Given the description of an element on the screen output the (x, y) to click on. 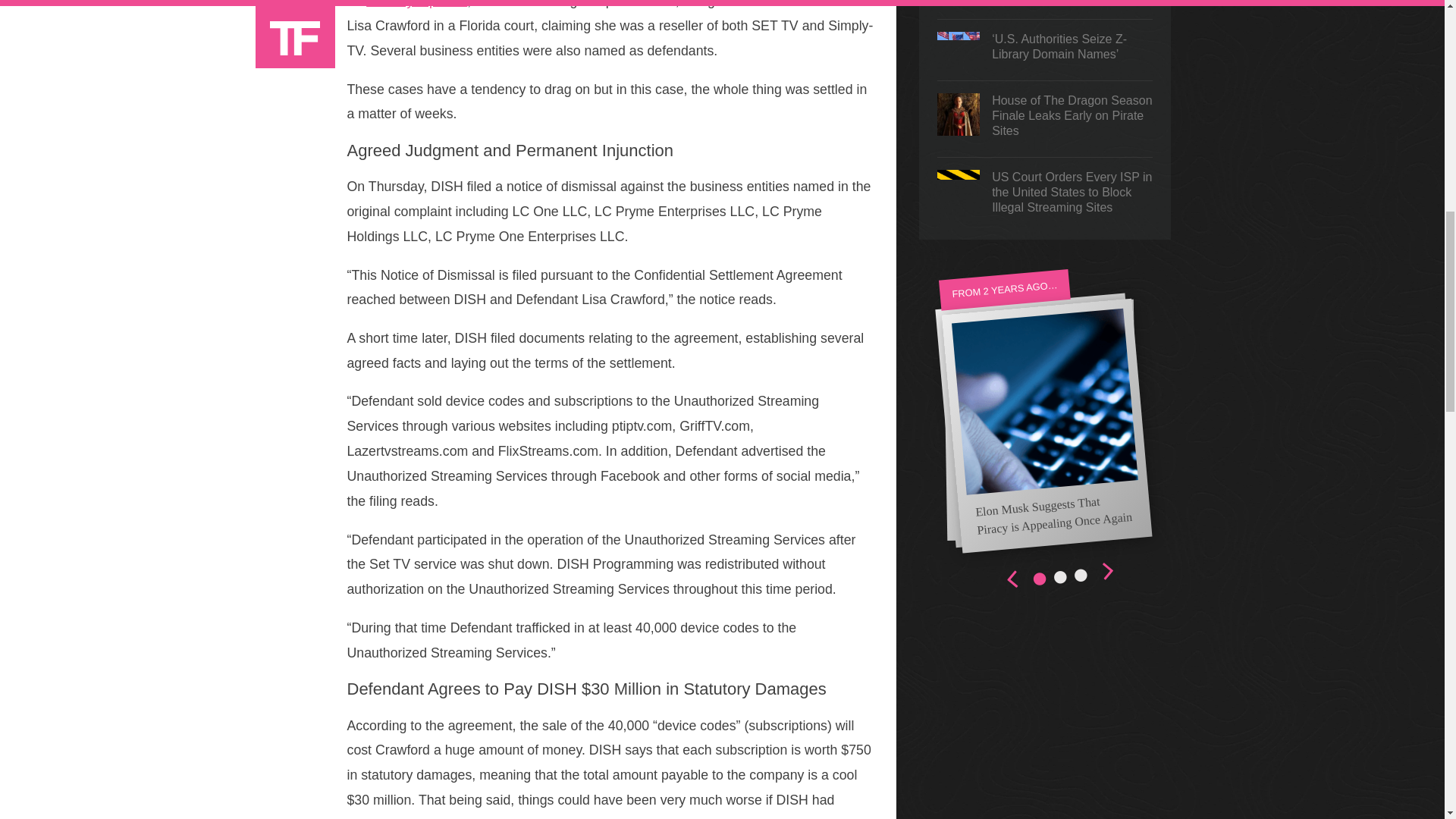
recently reported (416, 4)
